Given the description of an element on the screen output the (x, y) to click on. 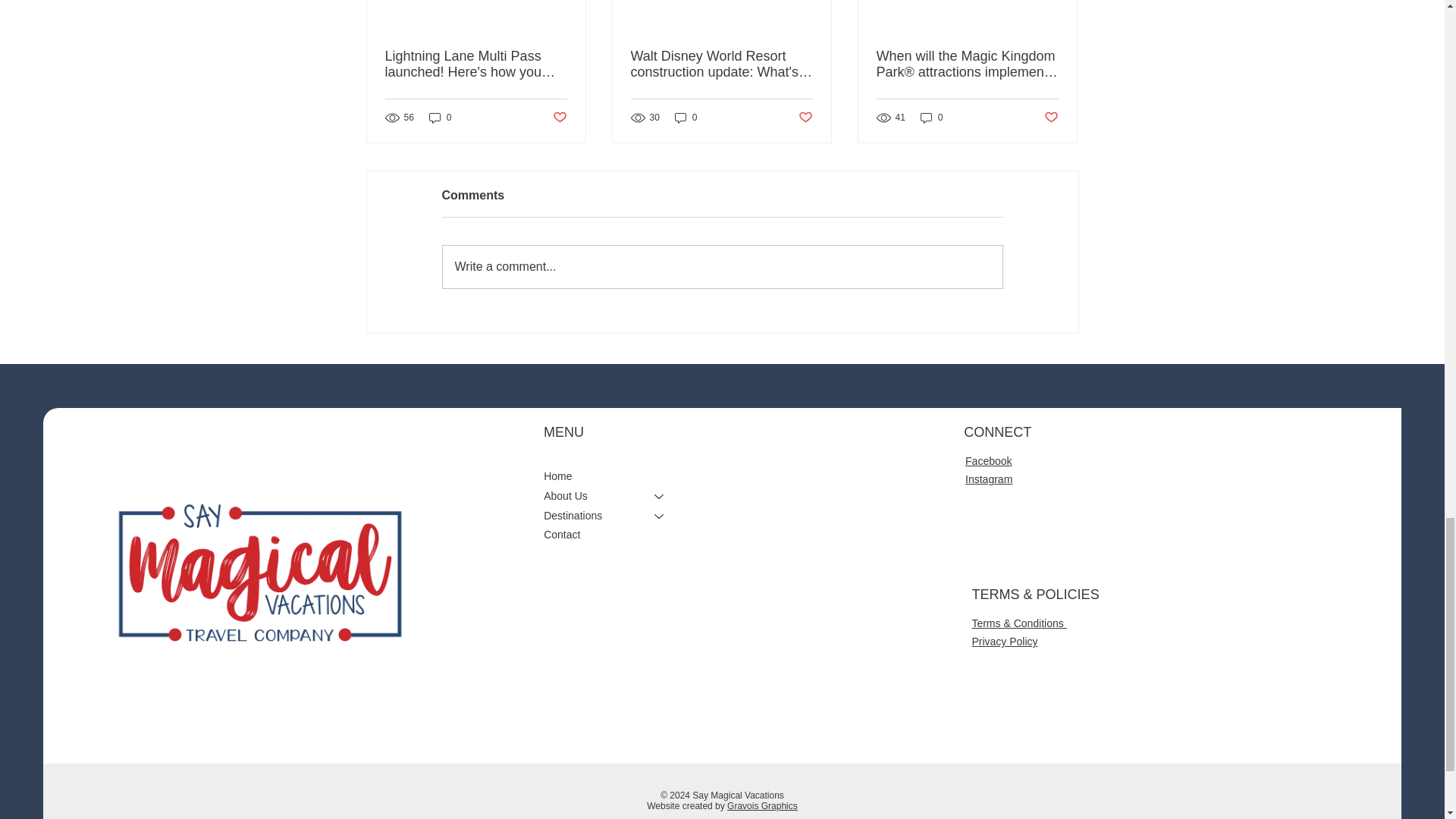
Walt Disney World Resort construction update: What's opened? (721, 64)
Lightning Lane Multi Pass launched! Here's how you use it (476, 64)
Write a comment... (722, 266)
Post not marked as liked (804, 117)
Post not marked as liked (558, 117)
0 (931, 117)
Post not marked as liked (1050, 117)
0 (440, 117)
0 (685, 117)
Home (610, 476)
